Given the description of an element on the screen output the (x, y) to click on. 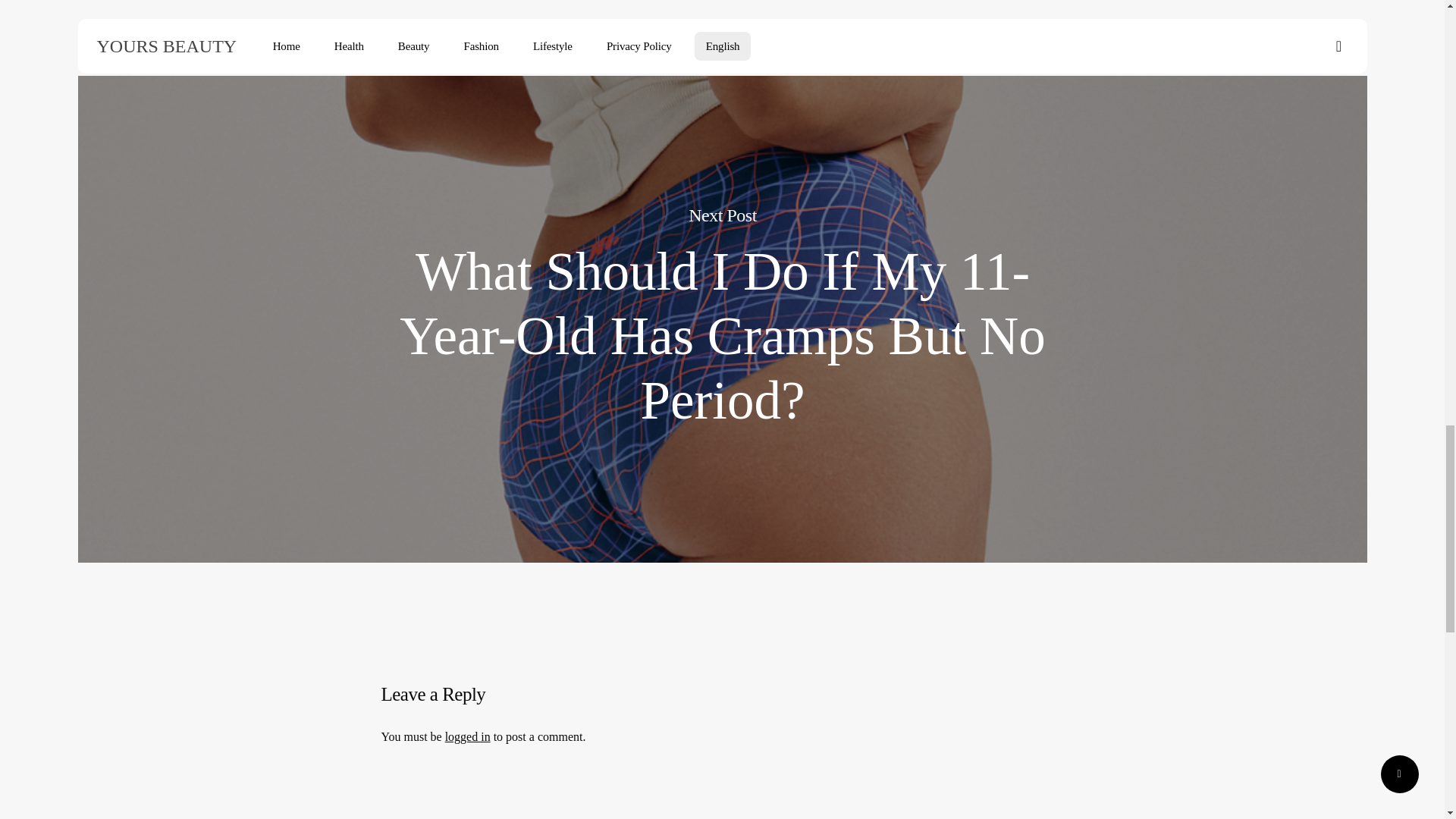
logged in (467, 736)
What Should I Do If My 11-Year-Old Has Cramps But No Period? (722, 336)
